Given the description of an element on the screen output the (x, y) to click on. 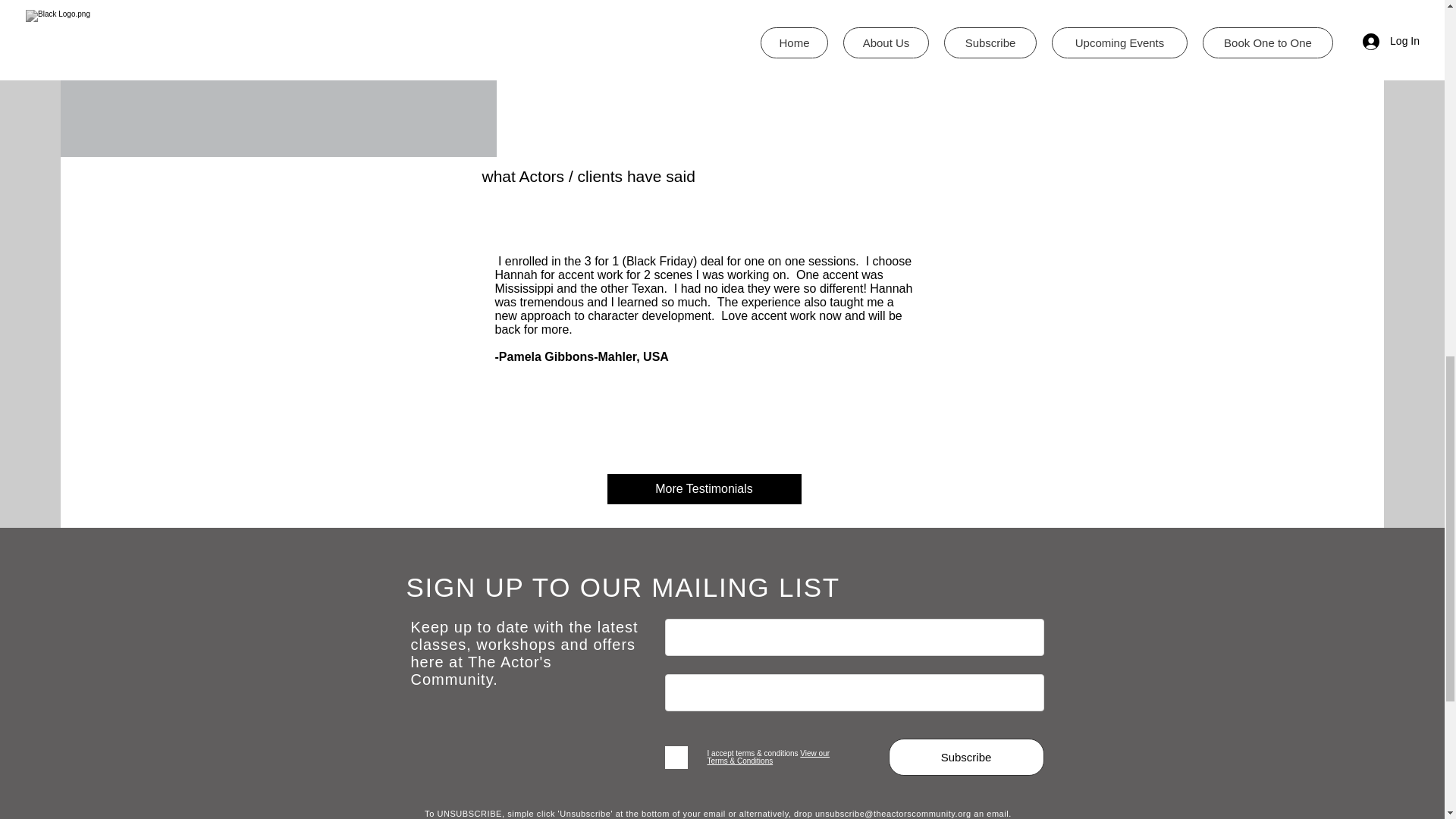
Subscribe (965, 756)
More Testimonials (703, 489)
